Given the description of an element on the screen output the (x, y) to click on. 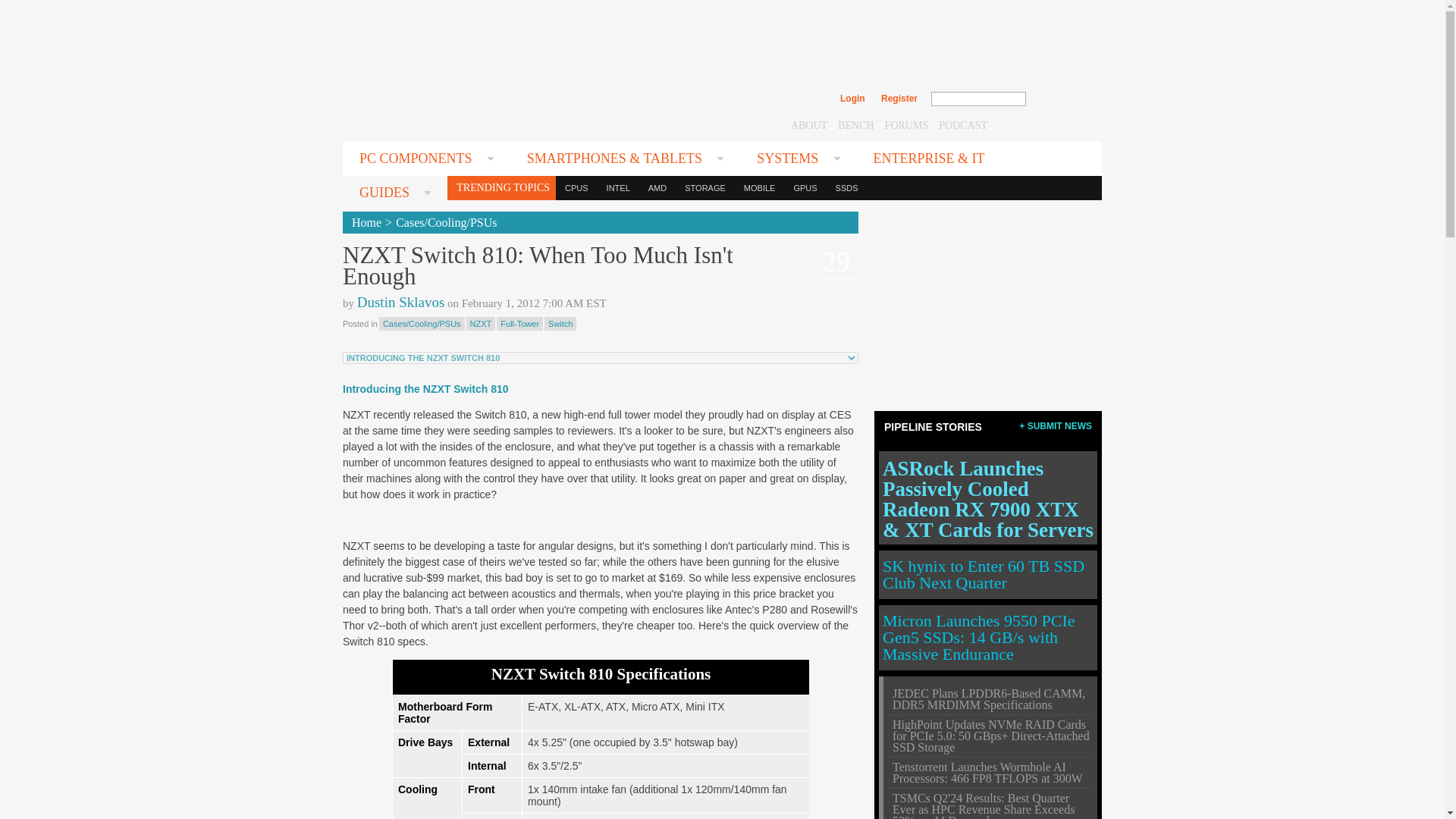
ABOUT (808, 125)
FORUMS (906, 125)
BENCH (855, 125)
Register (898, 98)
search (1059, 98)
search (1059, 98)
PODCAST (963, 125)
search (1059, 98)
Login (852, 98)
